Given the description of an element on the screen output the (x, y) to click on. 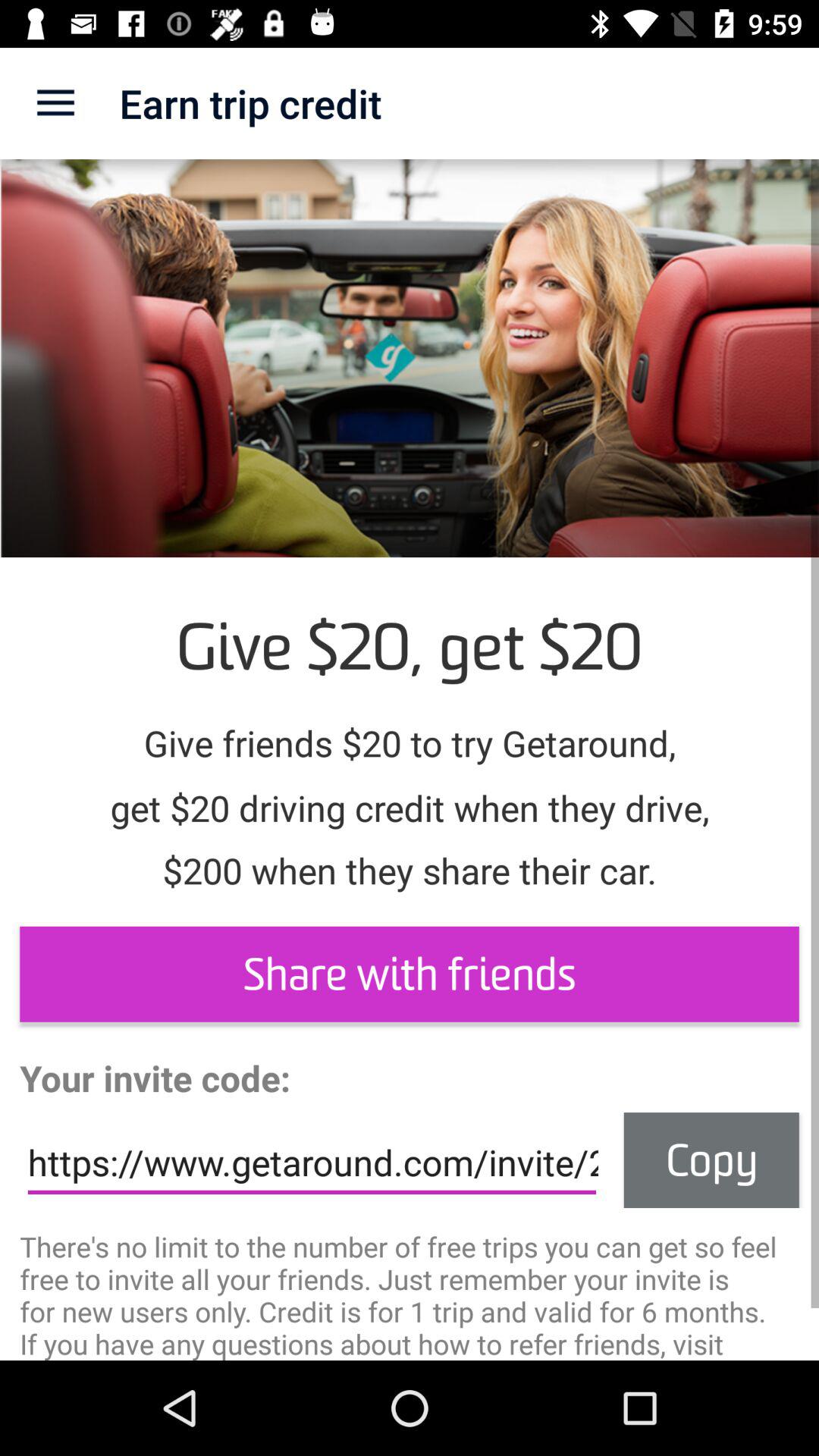
turn on the item at the bottom right corner (711, 1160)
